Given the description of an element on the screen output the (x, y) to click on. 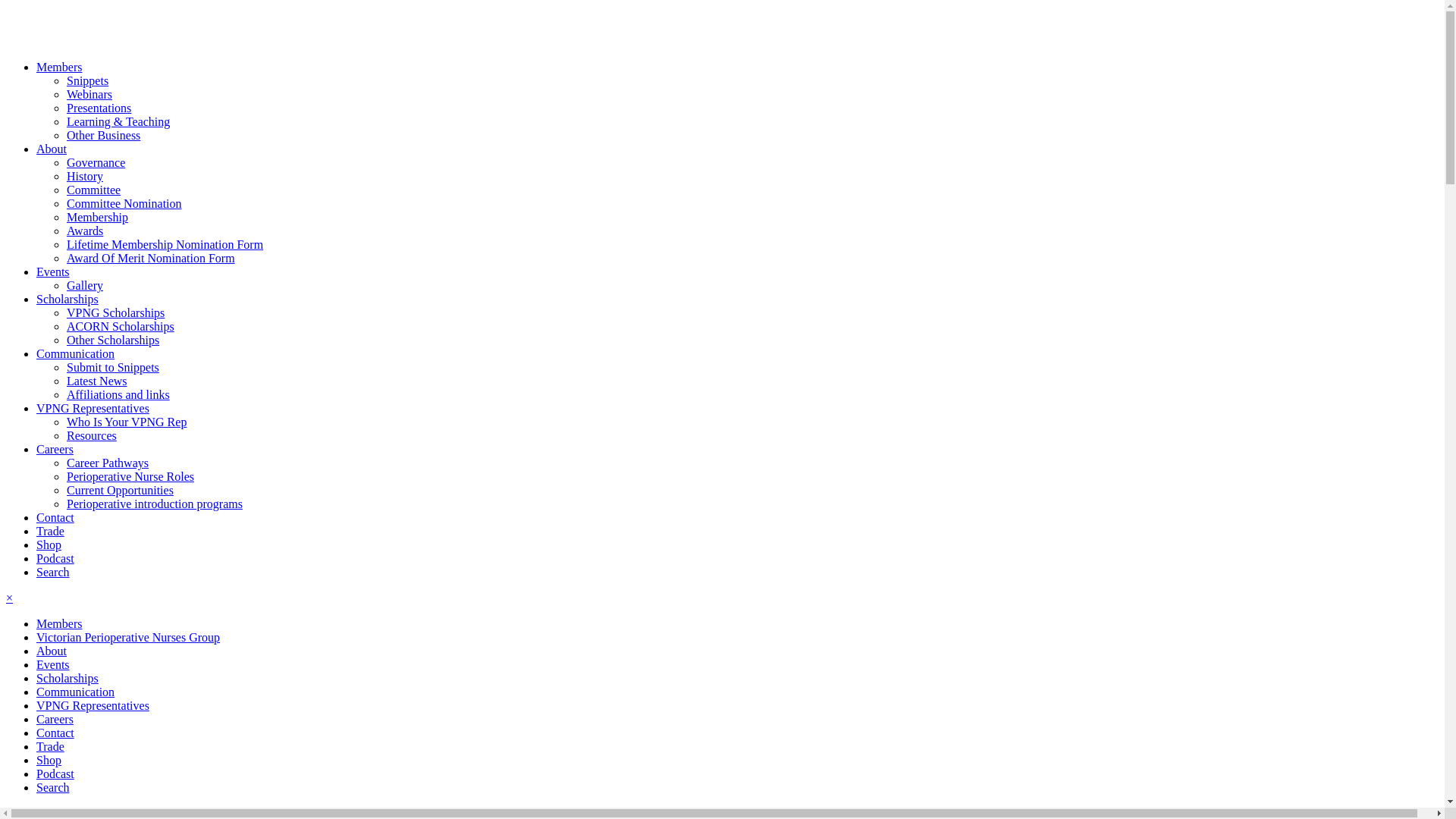
Submit to Snippets Element type: text (112, 366)
Shop Element type: text (48, 544)
Other Scholarships Element type: text (112, 339)
Latest News Element type: text (96, 380)
Committee Nomination Element type: text (124, 203)
Trade Element type: text (50, 530)
Podcast Element type: text (55, 558)
Career Pathways Element type: text (107, 462)
Current Opportunities Element type: text (119, 489)
Scholarships Element type: text (67, 298)
Search Element type: text (52, 787)
ACORN Scholarships Element type: text (120, 326)
Presentations Element type: text (98, 107)
VPNG Representatives Element type: text (92, 705)
Webinars Element type: text (89, 93)
About Element type: text (51, 148)
Award Of Merit Nomination Form Element type: text (150, 257)
Events Element type: text (52, 271)
Membership Element type: text (97, 216)
Perioperative introduction programs Element type: text (154, 503)
Members Element type: text (58, 66)
Committee Element type: text (93, 189)
Contact Element type: text (55, 517)
Victorian Perioperative Nurses Group Element type: text (127, 636)
Events Element type: text (52, 664)
Gallery Element type: text (84, 285)
Communication Element type: text (75, 691)
Perioperative Nurse Roles Element type: text (130, 476)
Shop Element type: text (48, 759)
VPNG Scholarships Element type: text (115, 312)
Resources Element type: text (91, 435)
Careers Element type: text (54, 718)
Scholarships Element type: text (67, 677)
Communication Element type: text (75, 353)
Trade Element type: text (50, 746)
Lifetime Membership Nomination Form Element type: text (164, 244)
VPNG Representatives Element type: text (92, 407)
Other Business Element type: text (103, 134)
Learning & Teaching Element type: text (117, 121)
Awards Element type: text (84, 230)
Search Element type: text (52, 571)
Affiliations and links Element type: text (117, 394)
Who Is Your VPNG Rep Element type: text (126, 421)
Podcast Element type: text (55, 773)
Contact Element type: text (55, 732)
Governance Element type: text (95, 162)
Careers Element type: text (54, 448)
History Element type: text (84, 175)
Members Element type: text (58, 623)
About Element type: text (51, 650)
Snippets Element type: text (87, 80)
